Given the description of an element on the screen output the (x, y) to click on. 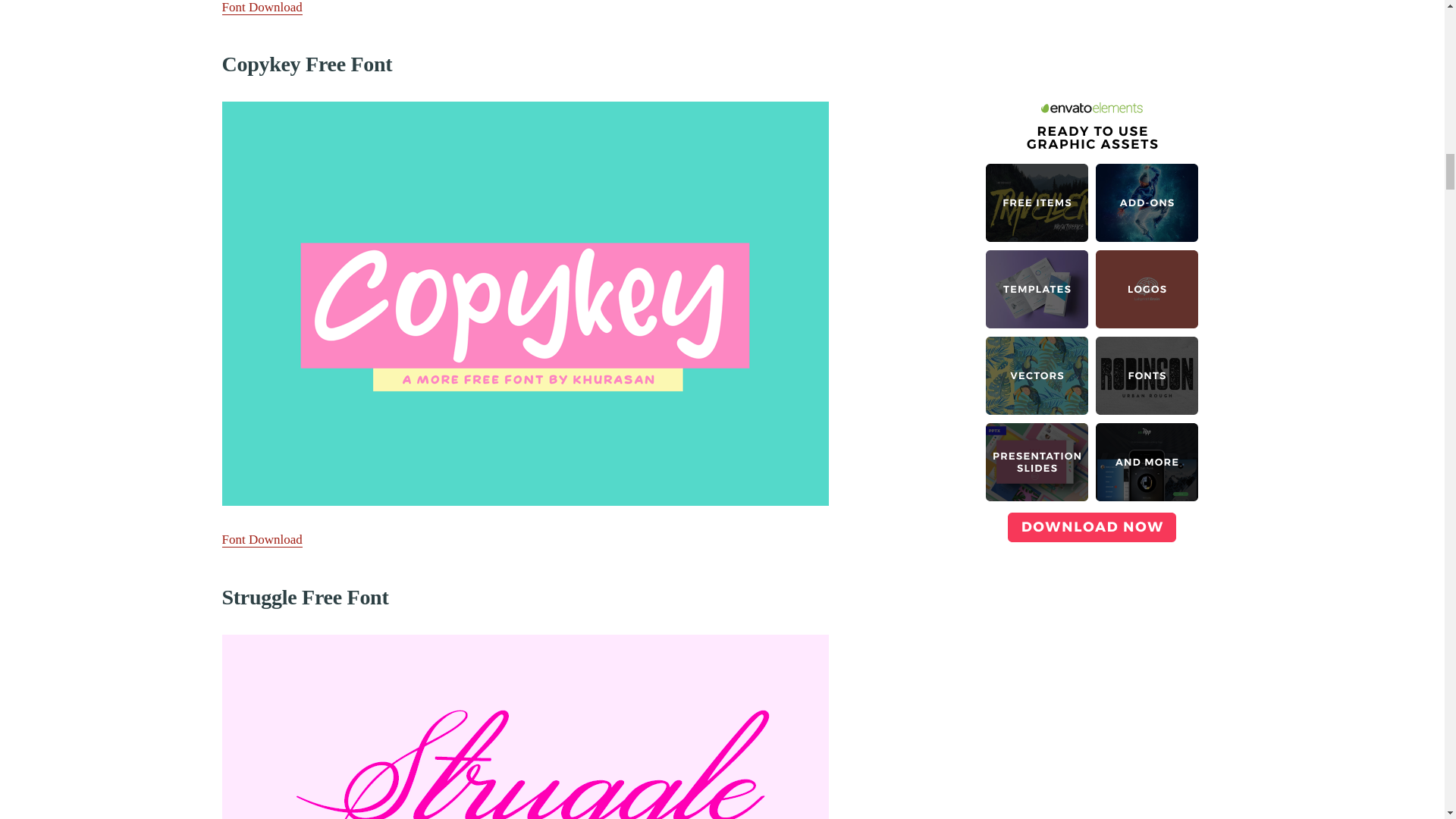
Struggle Free Font (524, 726)
